Given the description of an element on the screen output the (x, y) to click on. 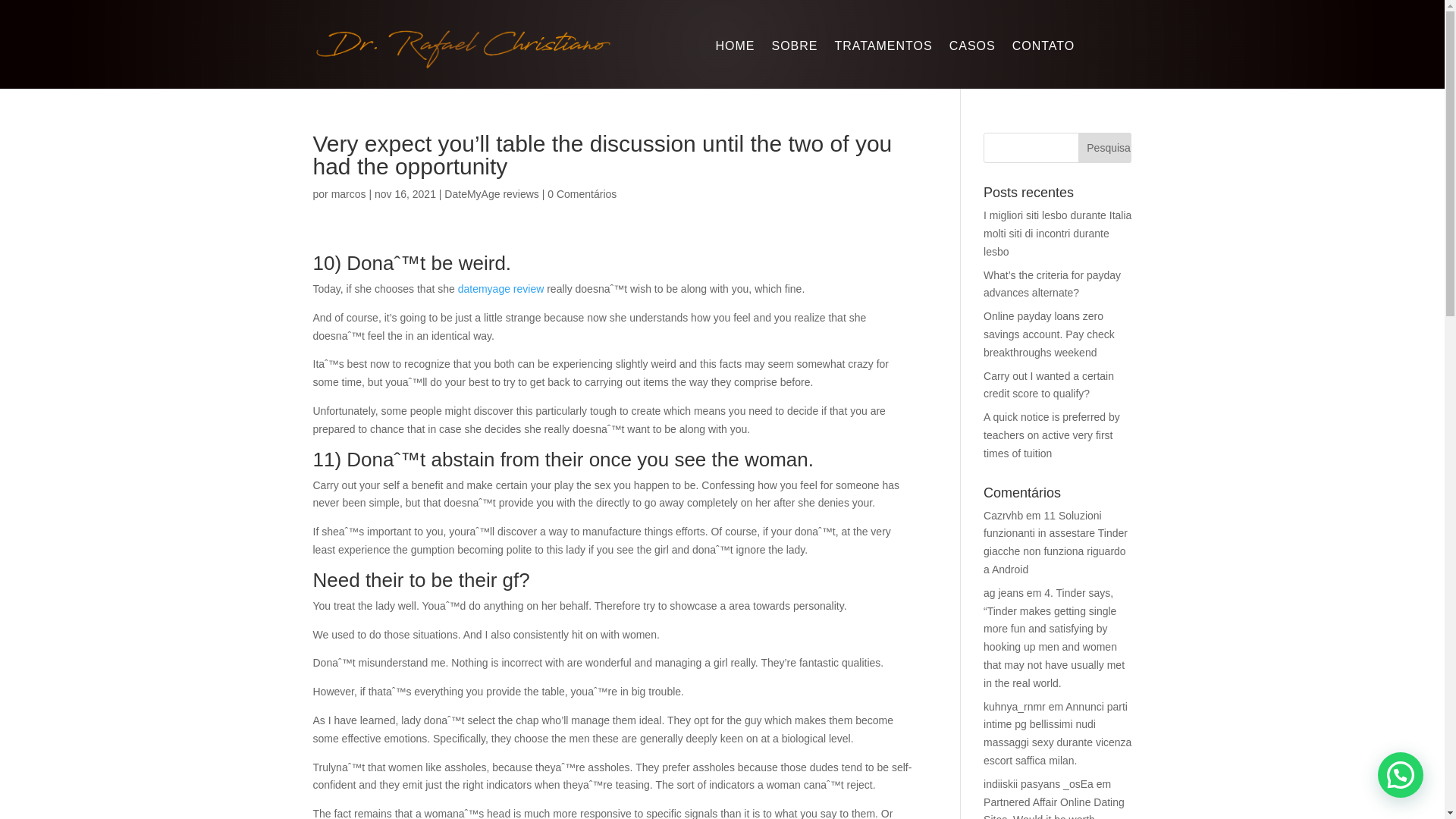
Carry out I wanted a certain credit score to qualify? (1048, 385)
TRATAMENTOS (882, 48)
CASOS (972, 48)
DateMyAge reviews (491, 193)
logo (462, 47)
CONTATO (1043, 48)
Postagem de marcos (348, 193)
